Given the description of an element on the screen output the (x, y) to click on. 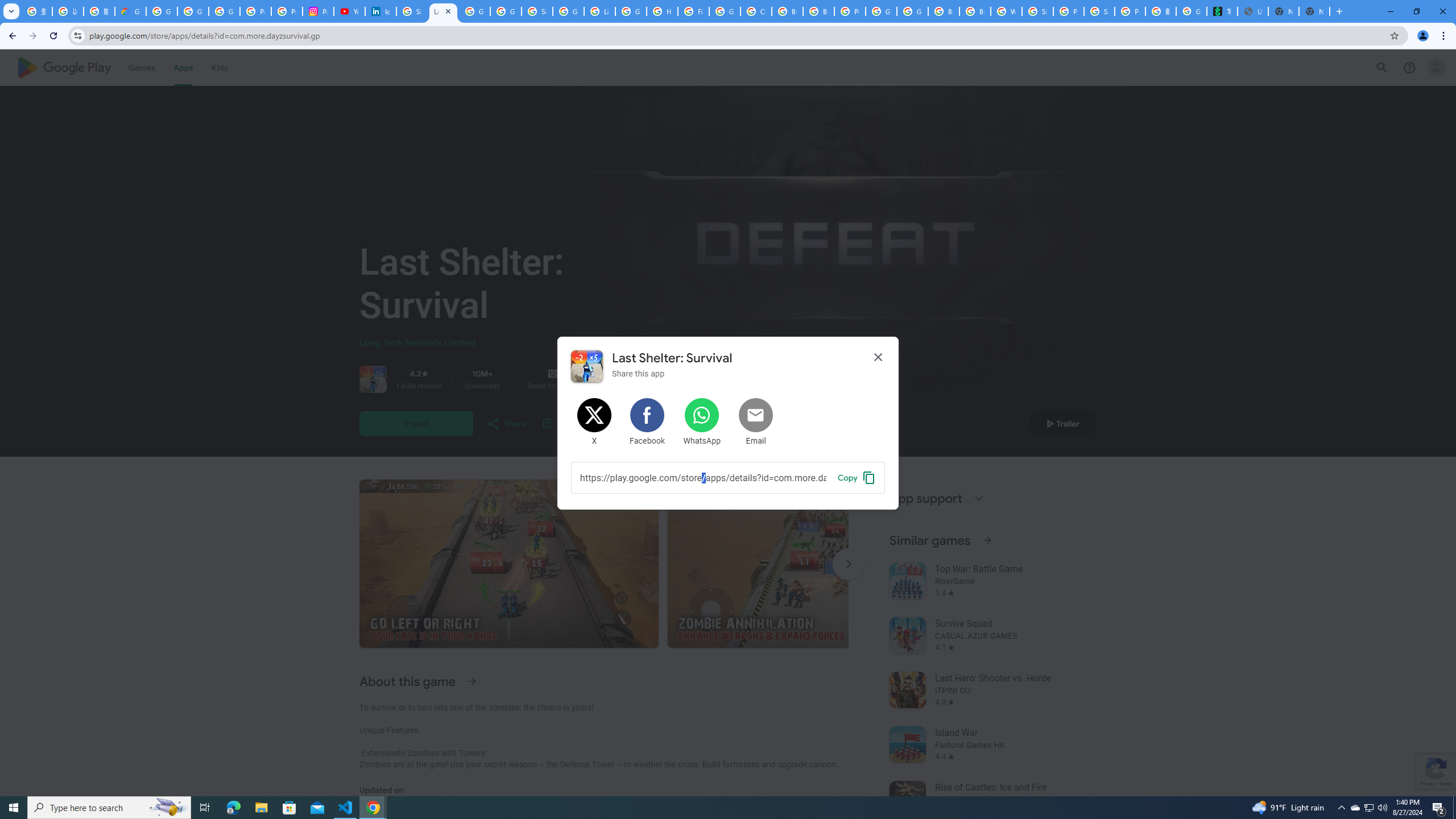
Browse Chrome as a guest - Computer - Google Chrome Help (787, 11)
Untitled (1252, 11)
Share on Facebook (647, 421)
Share on WhatsApp (701, 421)
Copy link to clipboard (703, 477)
